Given the description of an element on the screen output the (x, y) to click on. 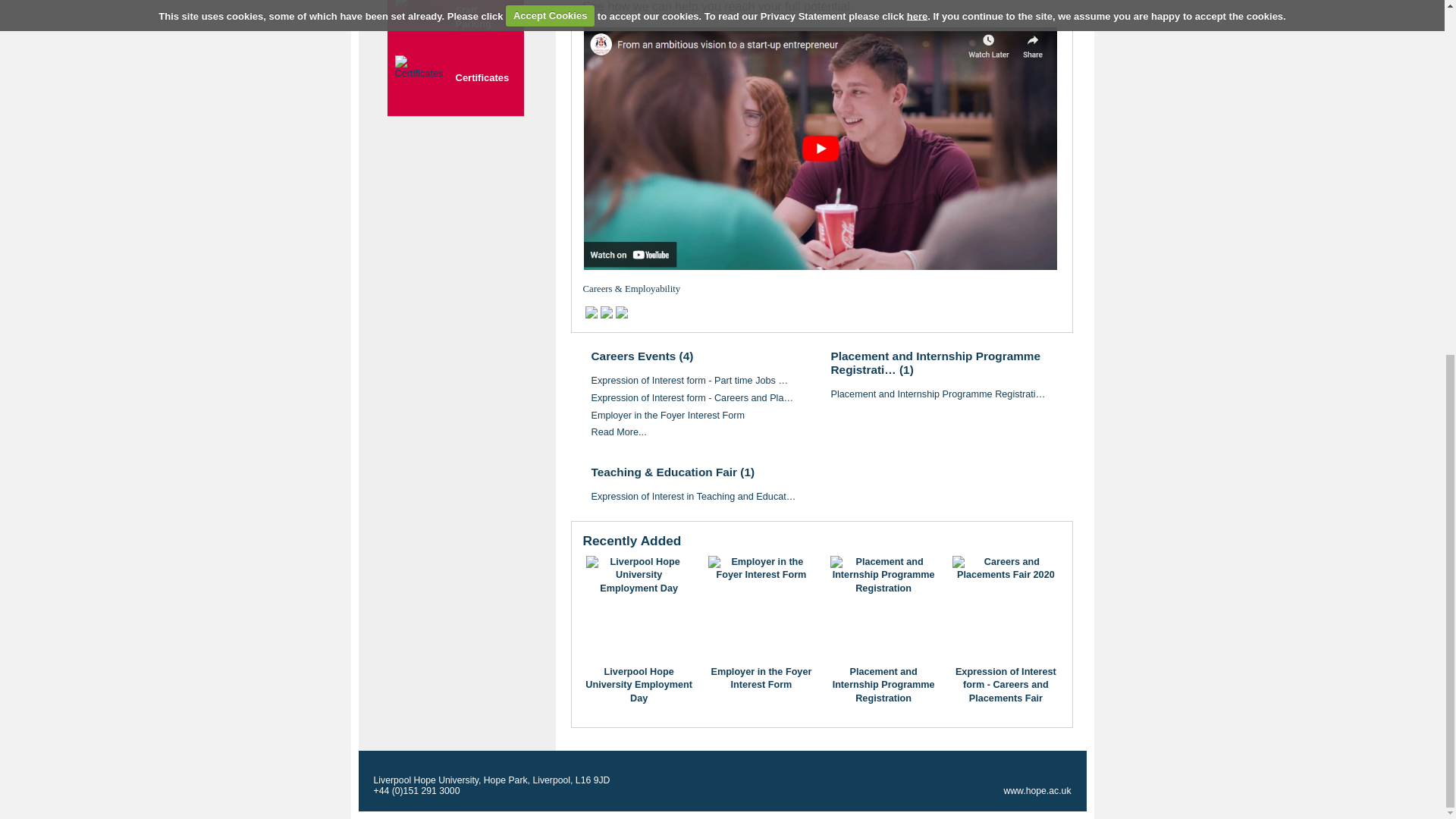
twitter (605, 312)
instagram (621, 312)
Reach your full potential (741, 6)
facebook (590, 312)
Watch on YouTube (820, 148)
